Given the description of an element on the screen output the (x, y) to click on. 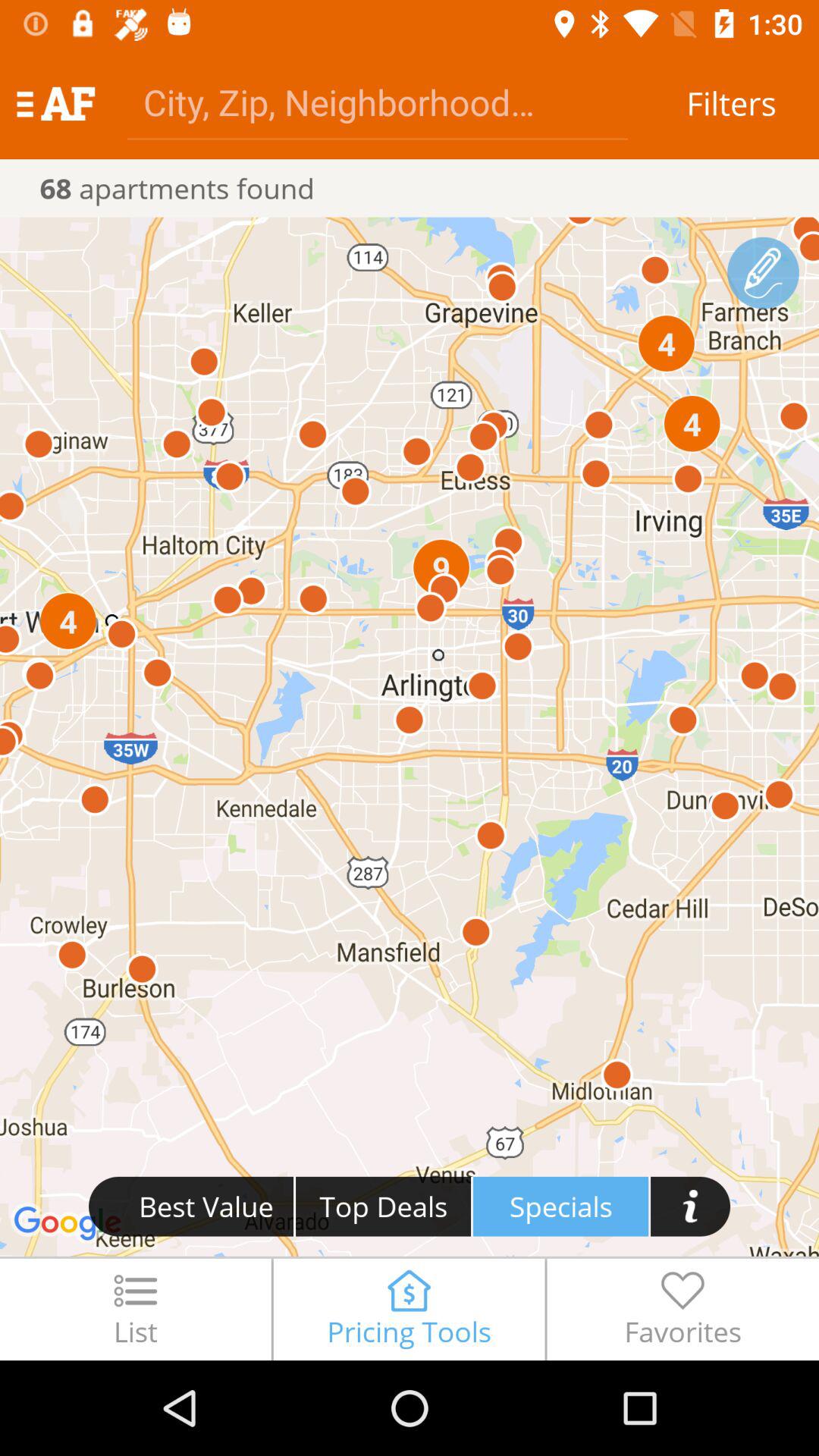
turn on the item next to favorites item (408, 1309)
